Given the description of an element on the screen output the (x, y) to click on. 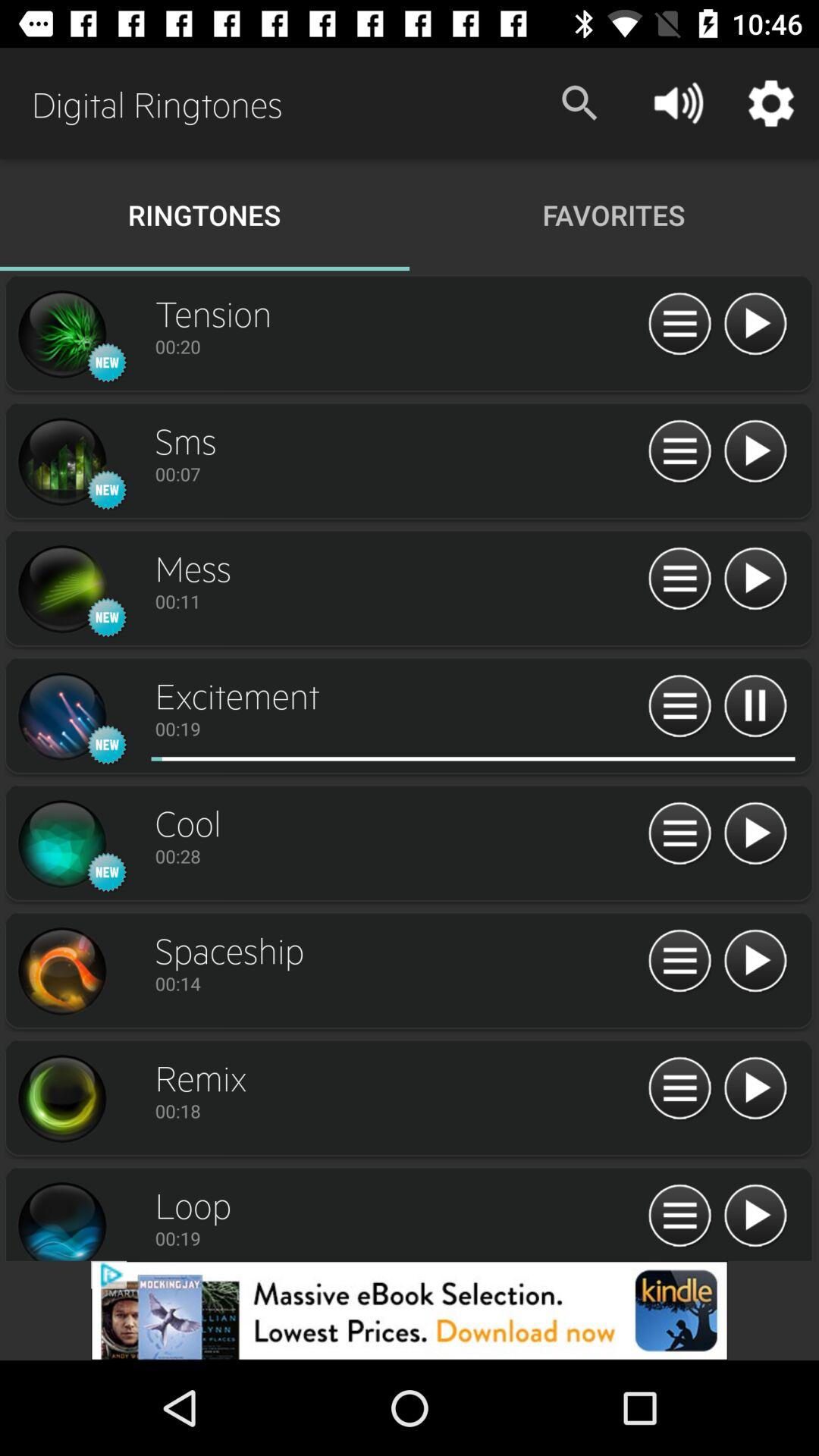
tb pega (61, 1219)
